Given the description of an element on the screen output the (x, y) to click on. 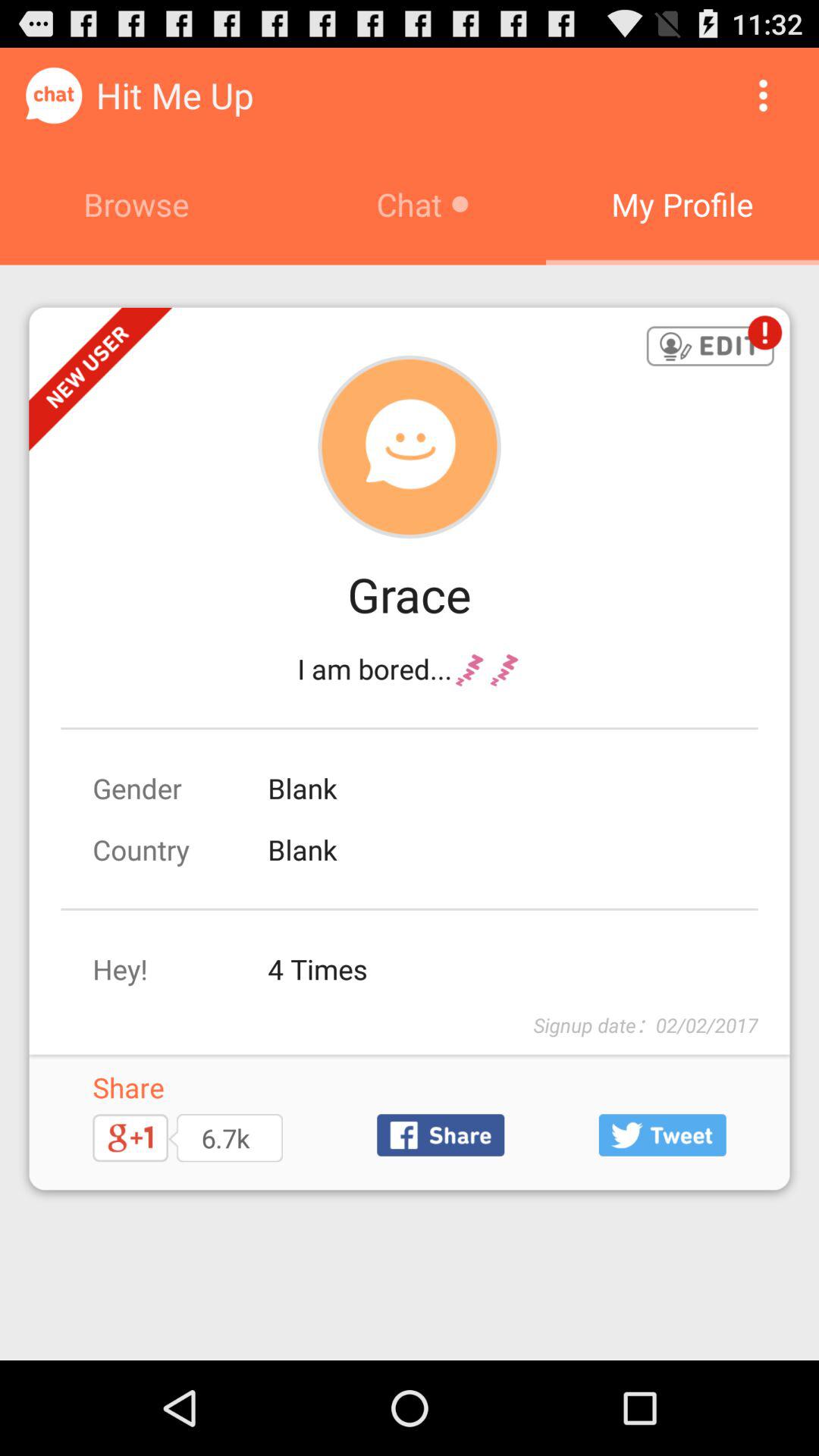
click my profile icon (682, 204)
